Given the description of an element on the screen output the (x, y) to click on. 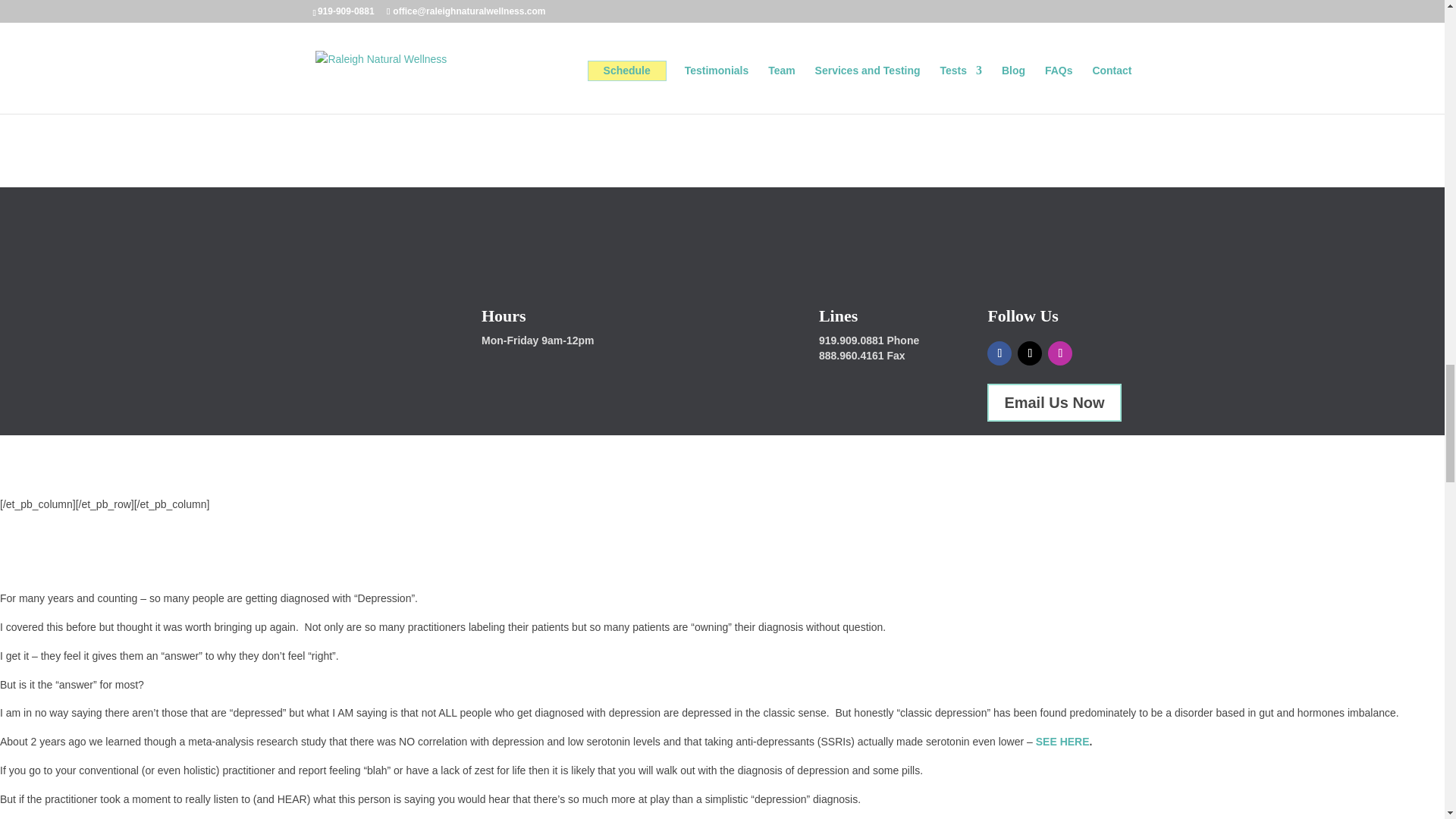
Follow on Facebook (999, 353)
Email Us Now (1054, 402)
Follow on Instagram (1059, 353)
Follow on Twitter (1029, 353)
SEE HERE (1062, 741)
